Given the description of an element on the screen output the (x, y) to click on. 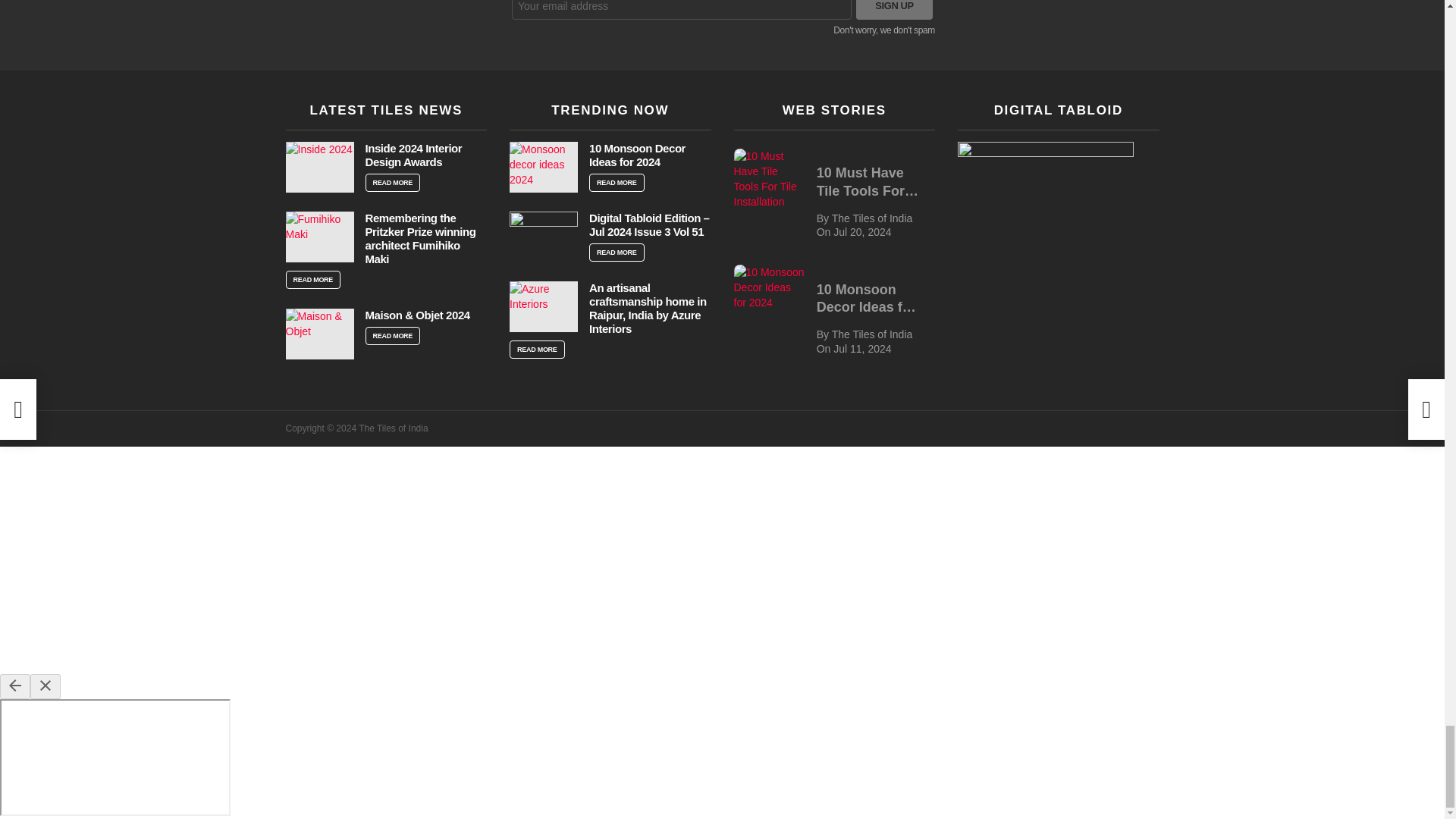
Sign up (894, 9)
